Given the description of an element on the screen output the (x, y) to click on. 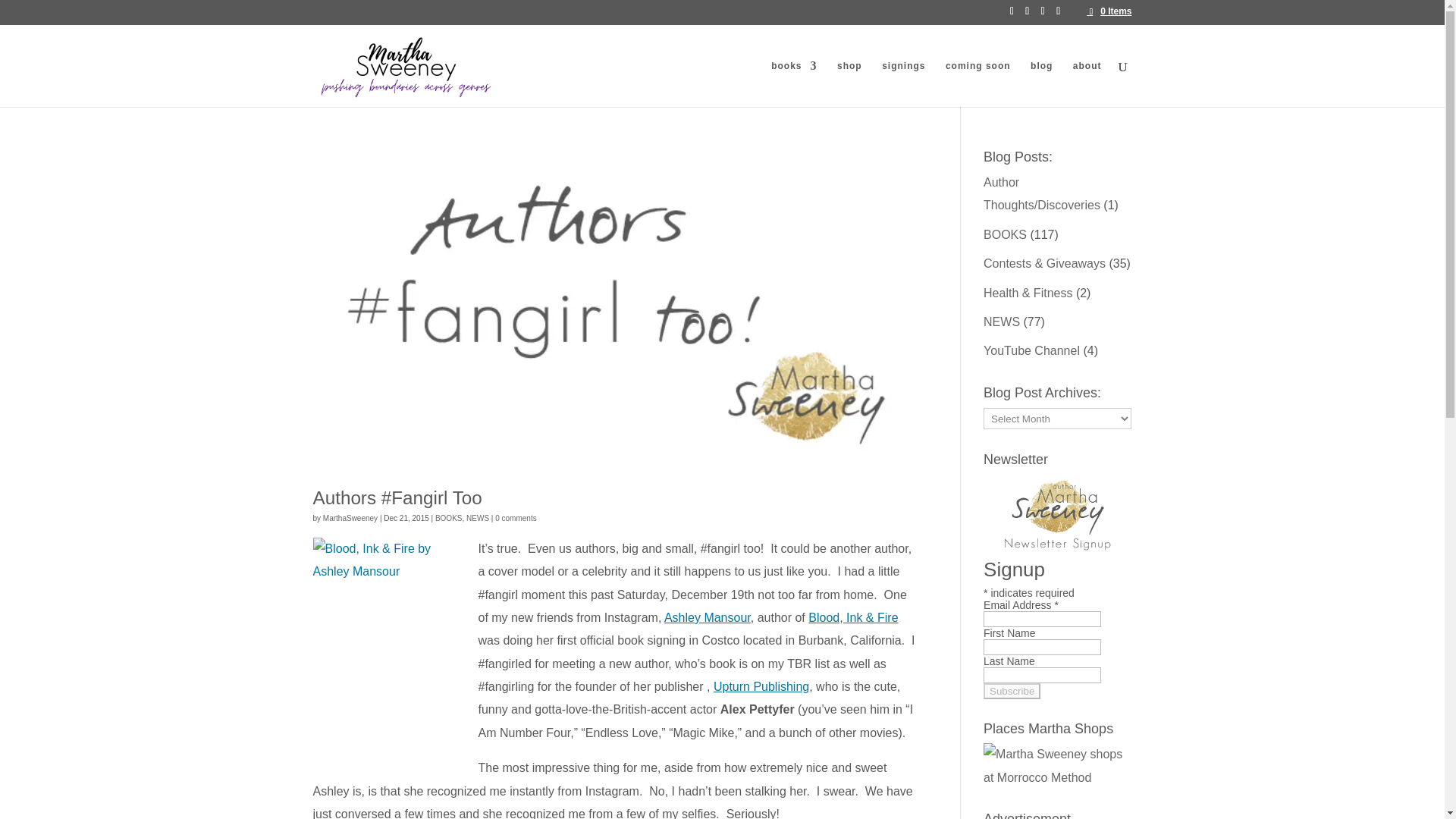
Posts by MarthaSweeney (350, 518)
signings (903, 83)
Subscribe (1012, 691)
books (793, 83)
blog (1041, 83)
0 Items (1108, 10)
Martha Sweeney shops at Morrocco Method (1057, 765)
coming soon (977, 83)
shop (849, 83)
about (1087, 83)
